Given the description of an element on the screen output the (x, y) to click on. 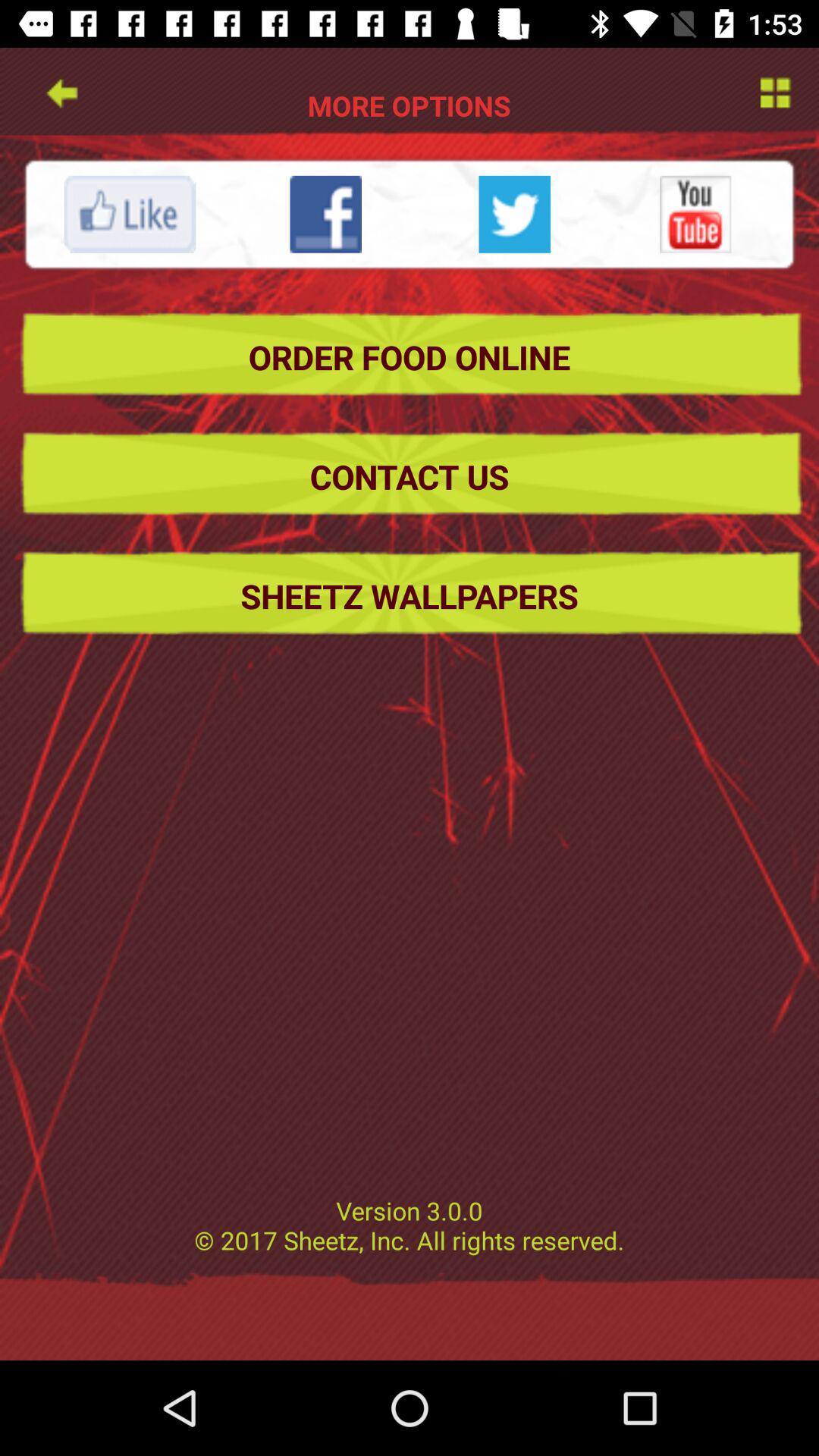
go to like (129, 214)
